Given the description of an element on the screen output the (x, y) to click on. 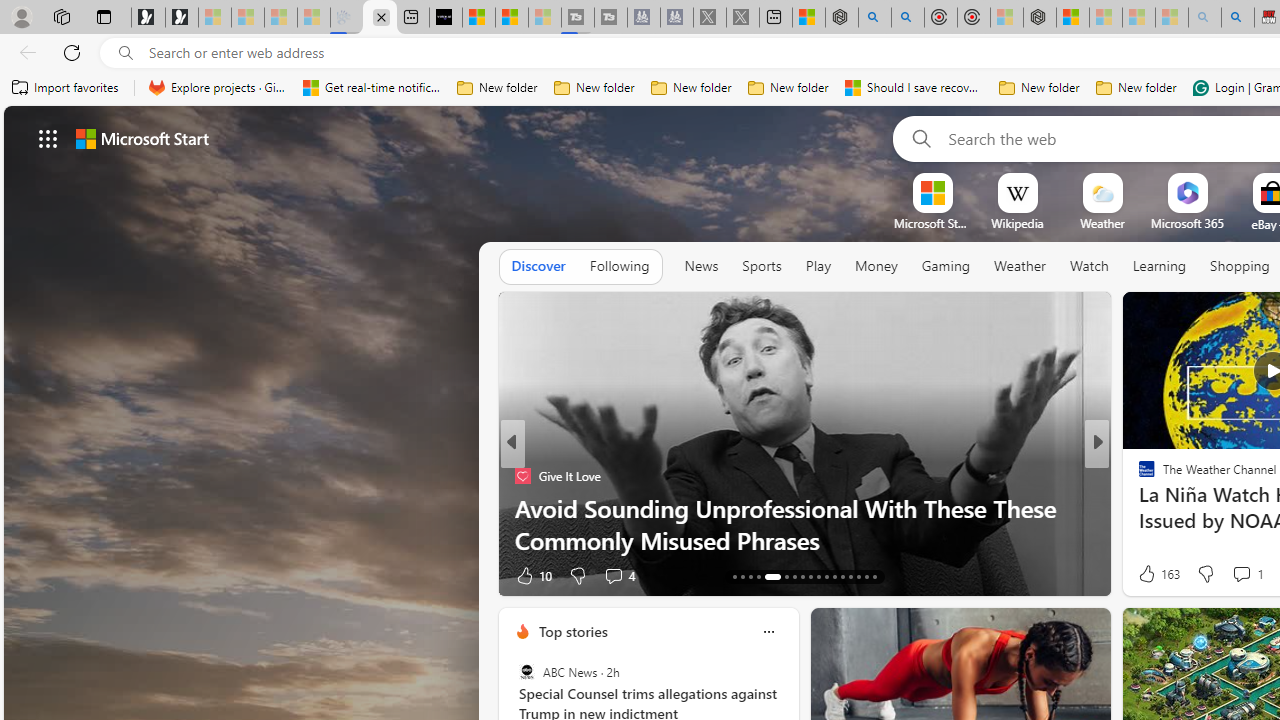
View comments 1 Comment (1247, 574)
20 Like (1149, 574)
View comments 5 Comment (1234, 574)
Play (818, 267)
AutomationID: tab-17 (767, 576)
Learning (1159, 265)
Search icon (125, 53)
New folder (1136, 88)
Play (817, 265)
Shopping (1240, 265)
